Given the description of an element on the screen output the (x, y) to click on. 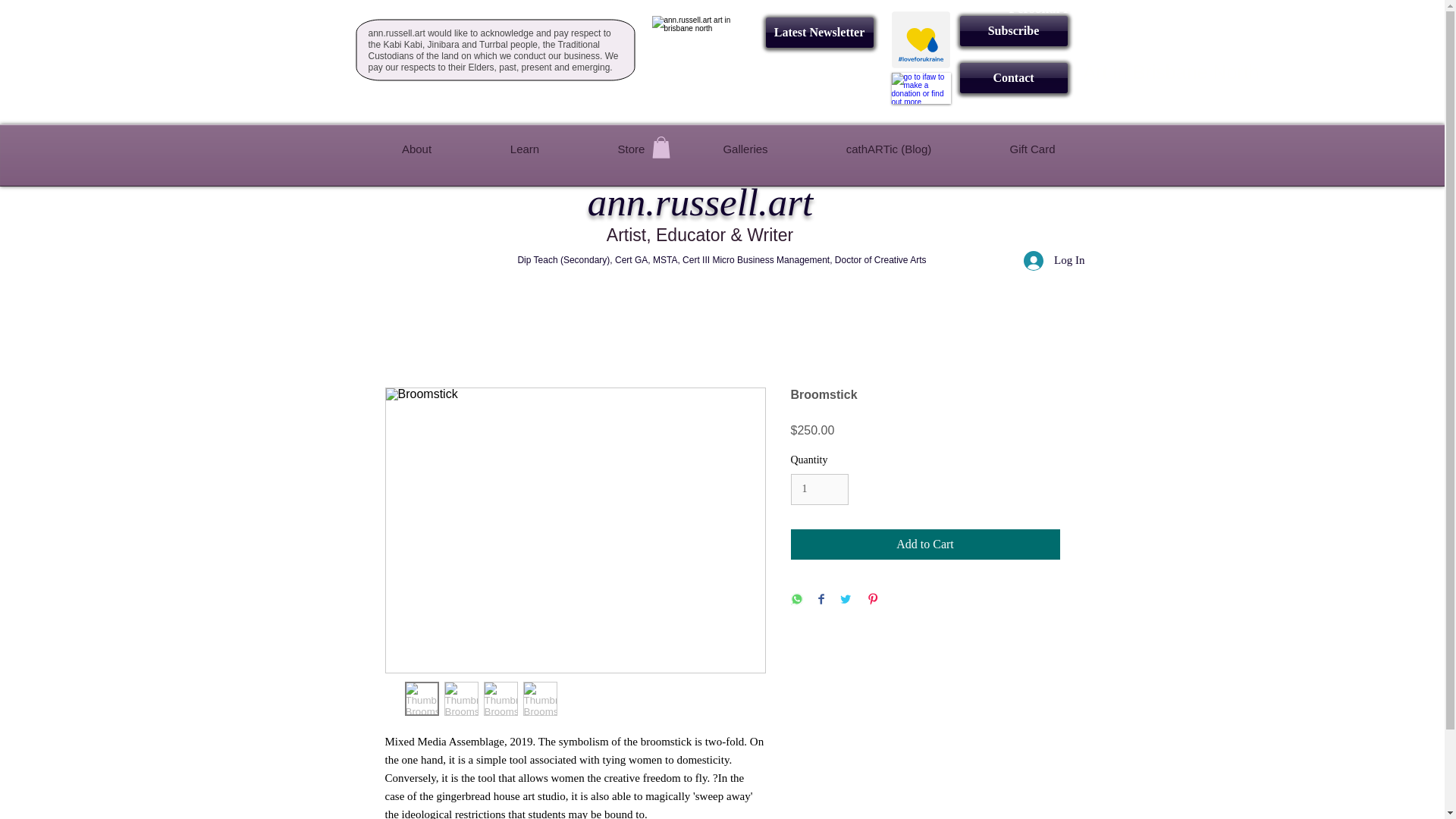
Pin to Pinterest (462, 206)
Contact (1013, 78)
Learn (524, 149)
About (416, 149)
Latest Newsletter (819, 32)
Store (630, 149)
1 (818, 489)
Subscribe (1013, 30)
